Given the description of an element on the screen output the (x, y) to click on. 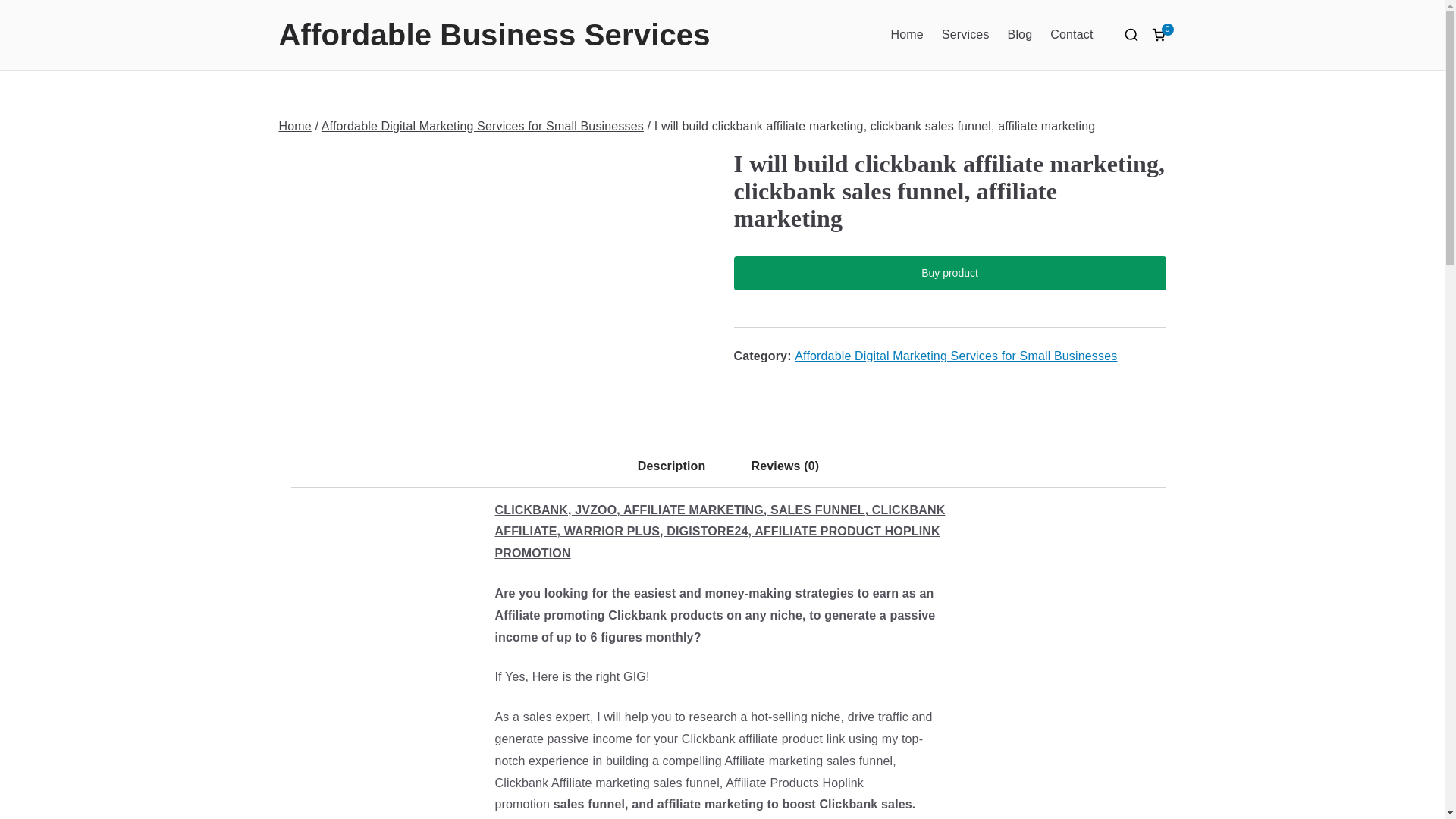
View your shopping cart (1158, 34)
Blog (1019, 34)
Affordable Digital Marketing Services for Small Businesses (482, 125)
0 (1158, 34)
Buy product (949, 273)
Search (26, 12)
Description (671, 470)
Services (966, 34)
Home (295, 125)
Affordable Business Services (494, 34)
